Given the description of an element on the screen output the (x, y) to click on. 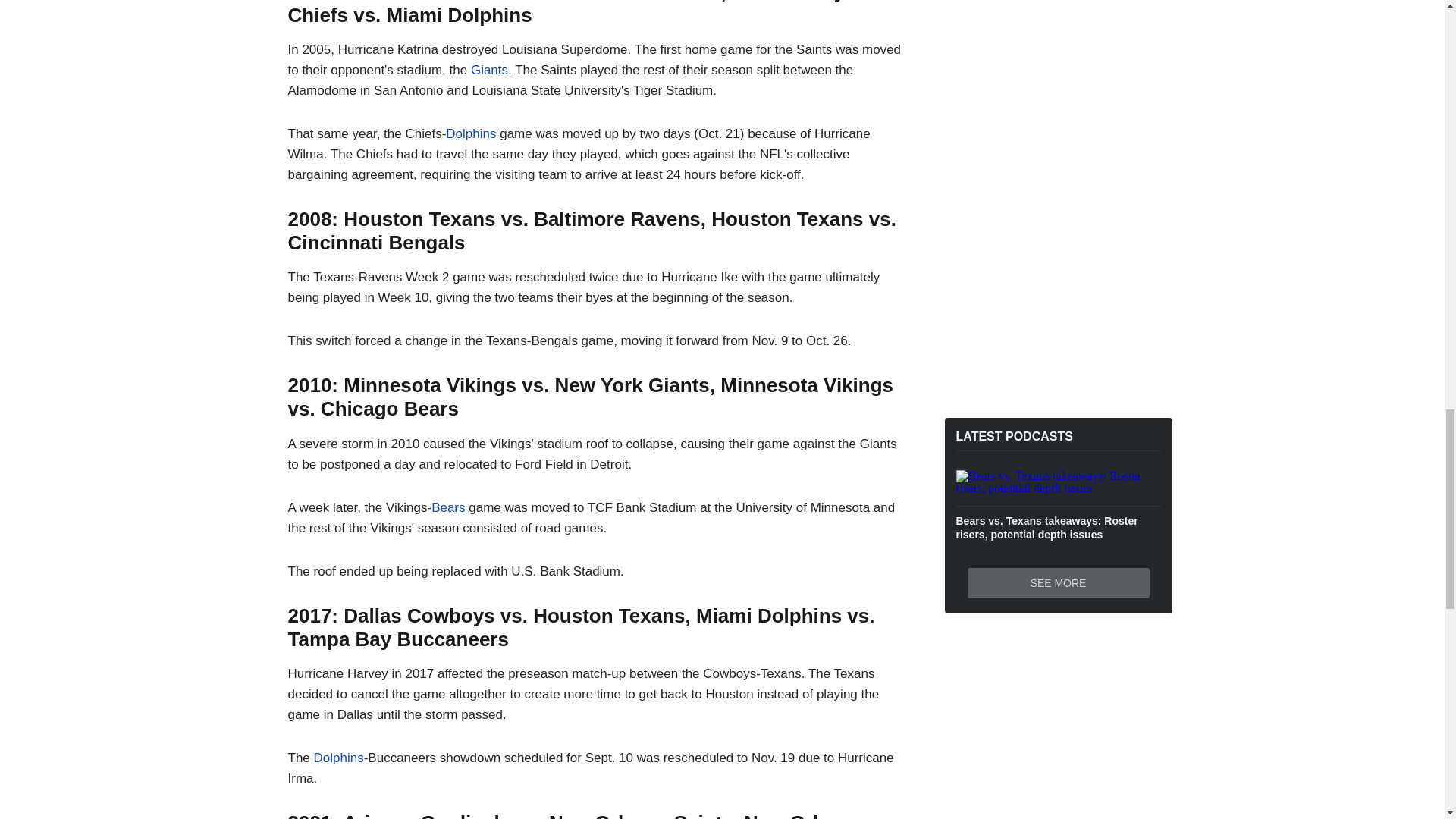
Bears (447, 507)
Giants (489, 69)
Dolphins (470, 133)
